Given the description of an element on the screen output the (x, y) to click on. 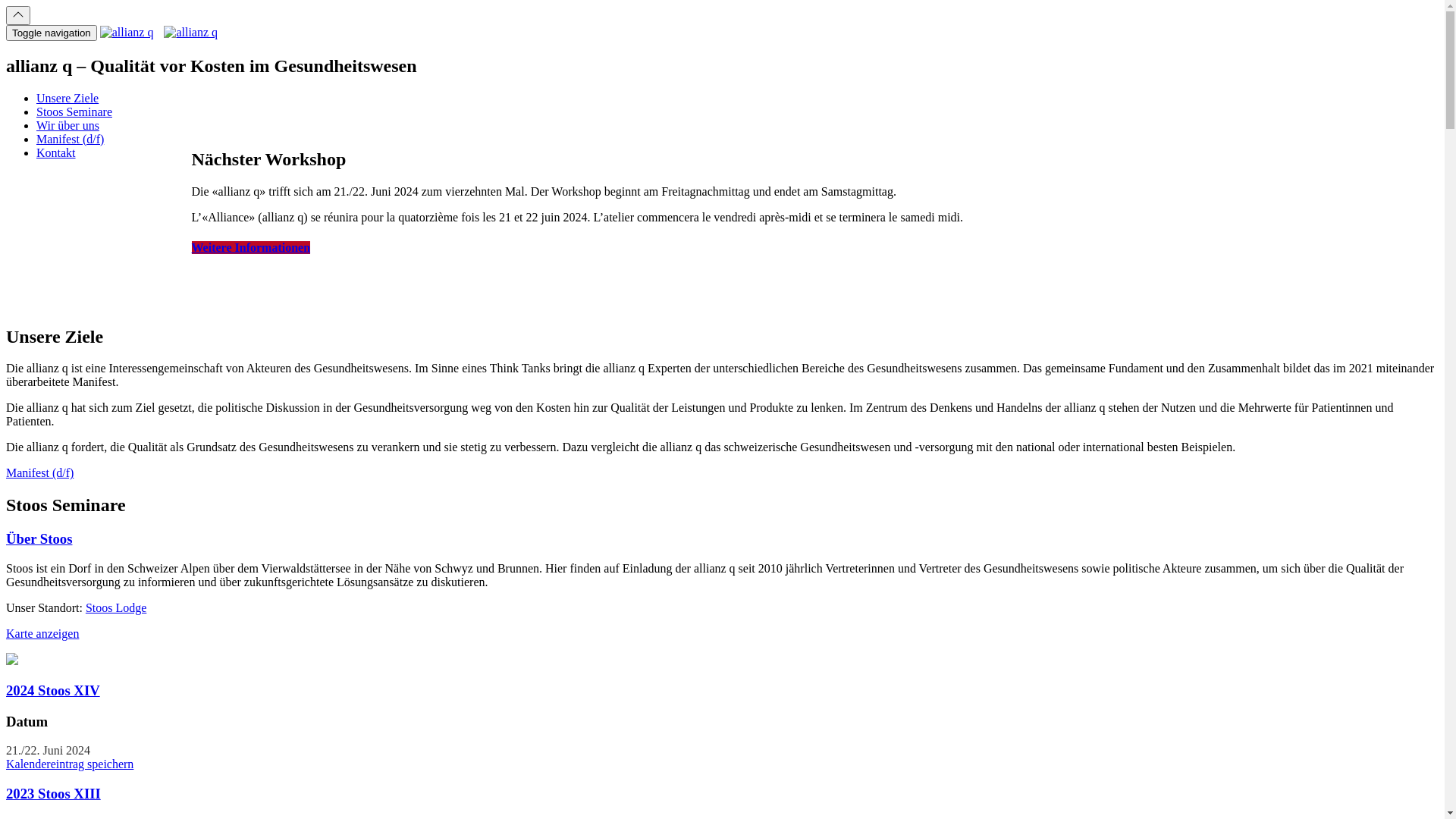
Go to top Element type: hover (18, 15)
Karte anzeigen Element type: text (42, 633)
Kontakt Element type: text (55, 152)
Toggle navigation Element type: text (51, 32)
2024 Stoos XIV Element type: text (53, 690)
Stoos Seminare Element type: text (74, 111)
Stoos Lodge Element type: text (115, 607)
Unsere Ziele Element type: text (67, 97)
Manifest (d/f) Element type: text (39, 472)
2023 Stoos XIII Element type: text (53, 793)
Weitere Informationen Element type: text (250, 247)
Kalendereintrag speichern Element type: text (69, 763)
Manifest (d/f) Element type: text (69, 138)
